Given the description of an element on the screen output the (x, y) to click on. 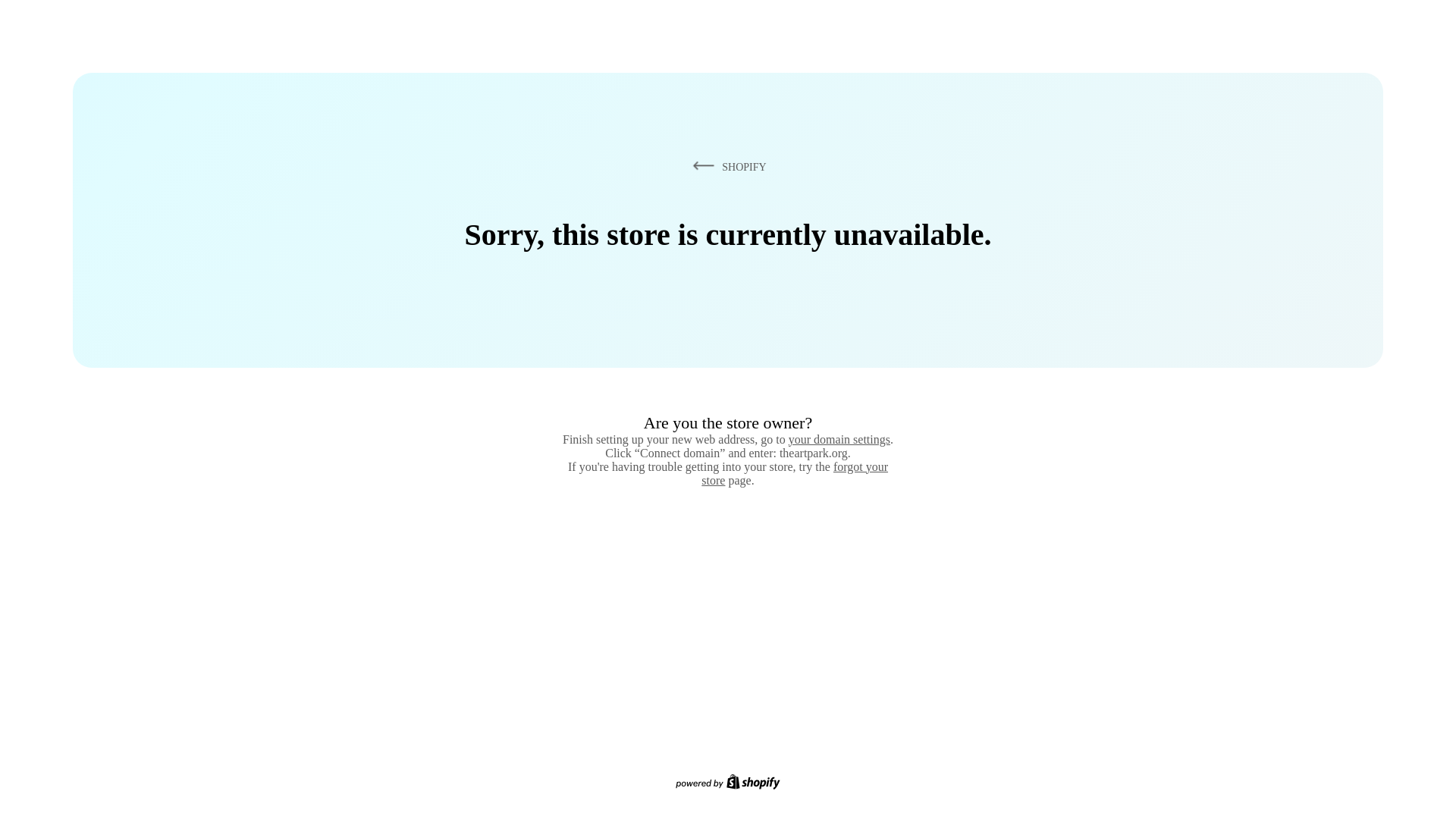
your domain settings (839, 439)
forgot your store (794, 473)
SHOPIFY (726, 166)
